Given the description of an element on the screen output the (x, y) to click on. 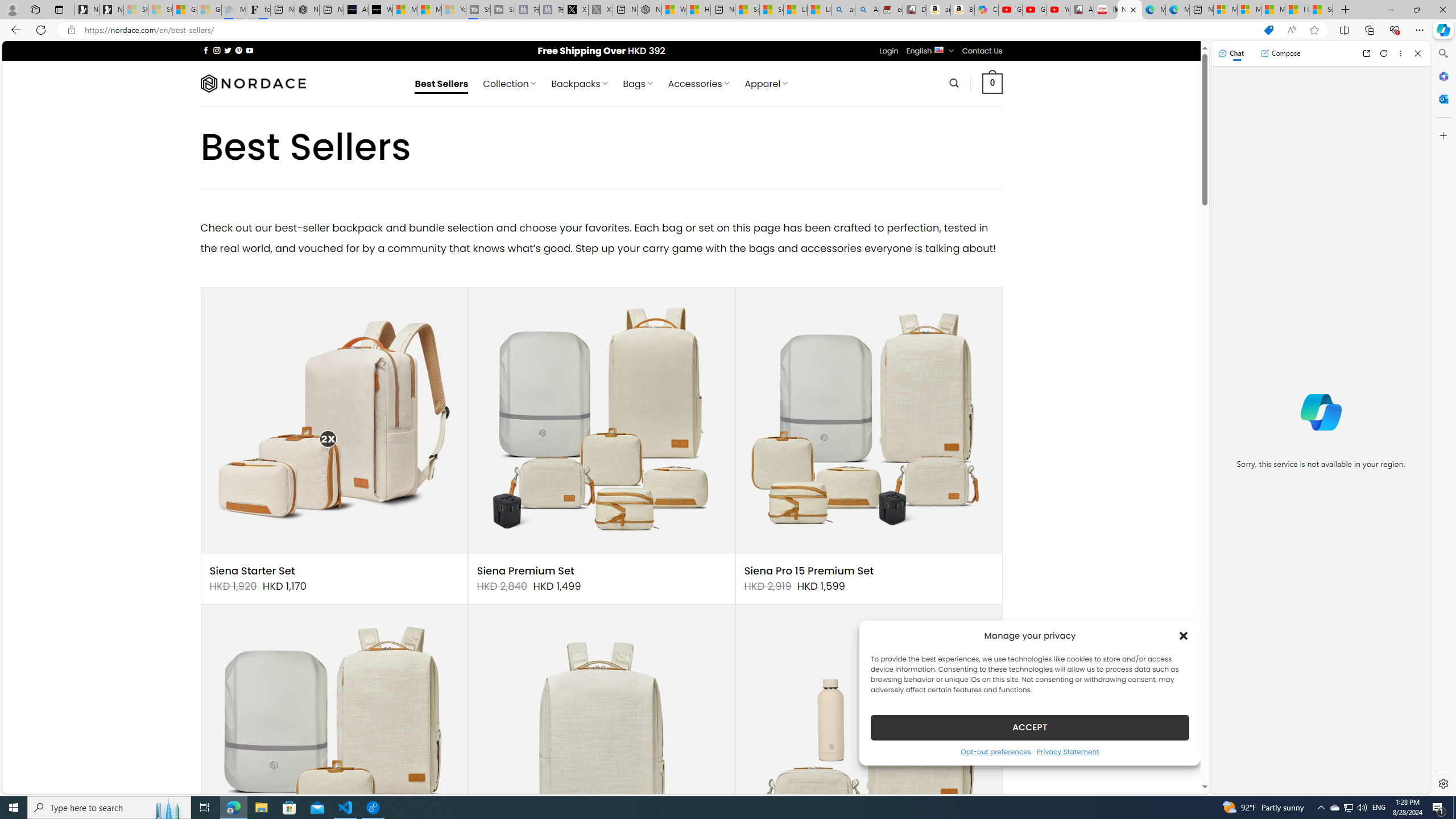
Siena Premium Set (525, 571)
Siena Pro 15 Premium Set (808, 571)
Chat (1231, 52)
AI Voice Changer for PC and Mac - Voice.ai (355, 9)
Opt-out preferences (995, 750)
